Given the description of an element on the screen output the (x, y) to click on. 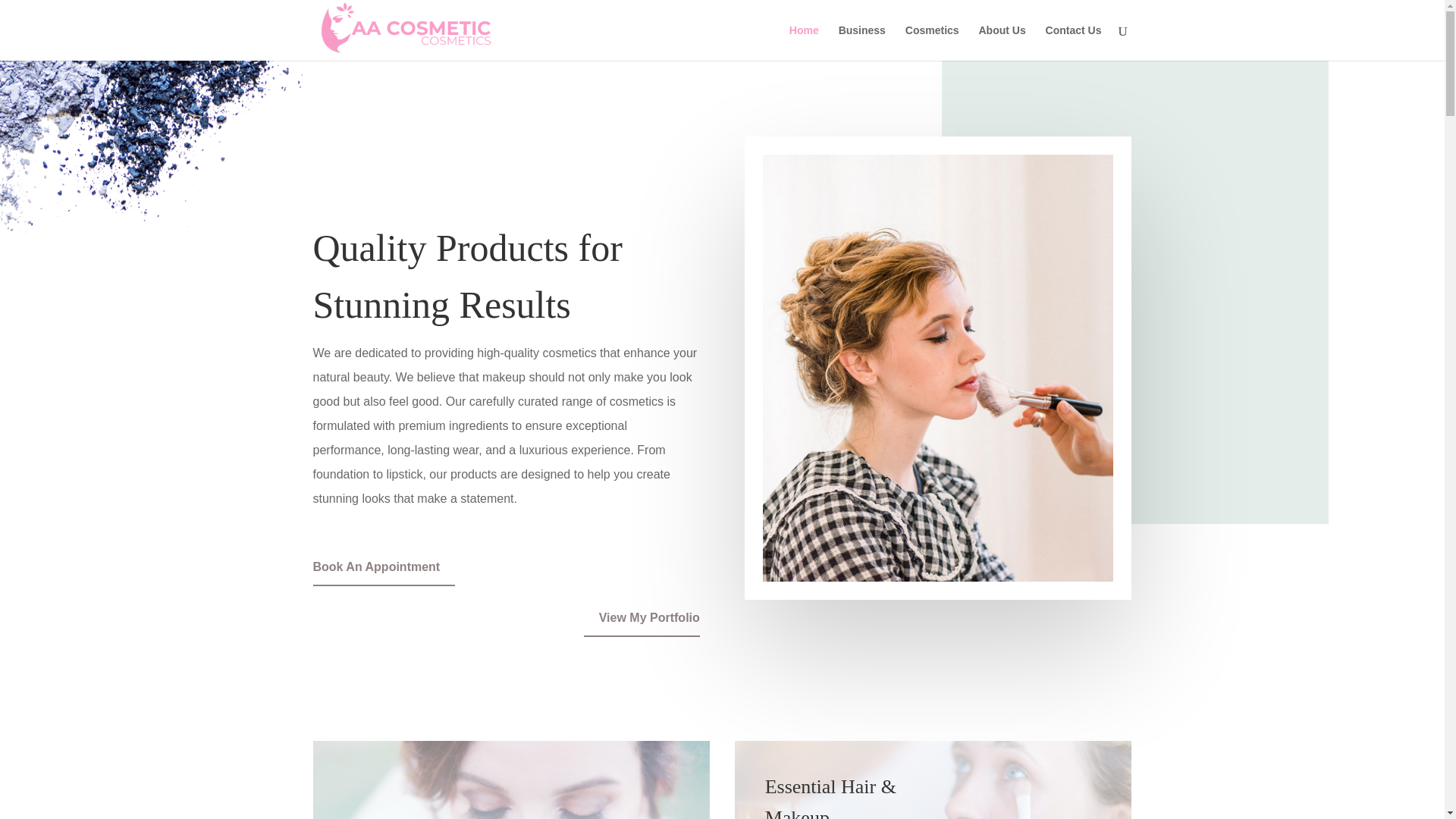
Contact Us (1073, 42)
Cosmetics (932, 42)
View My Portfolio (641, 621)
Book An Appointment (383, 570)
Business (861, 42)
About Us (1001, 42)
